Given the description of an element on the screen output the (x, y) to click on. 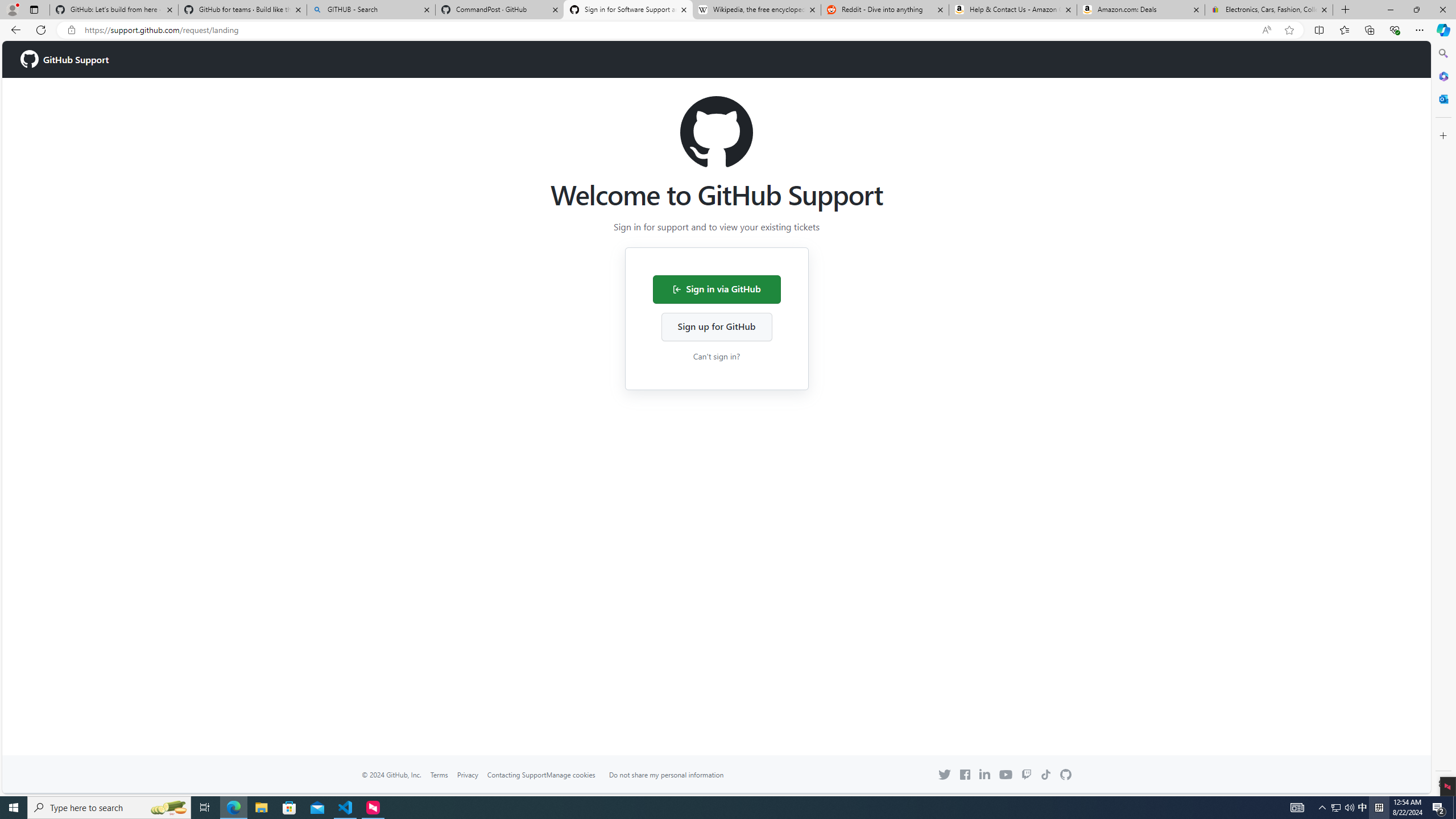
Twitter icon (944, 774)
GitHub on LinkedIn (984, 773)
Can't sign in? (717, 355)
Reddit - Dive into anything (884, 9)
GitHub on Twitch (1027, 774)
GitHub on YouTube (1004, 773)
